Given the description of an element on the screen output the (x, y) to click on. 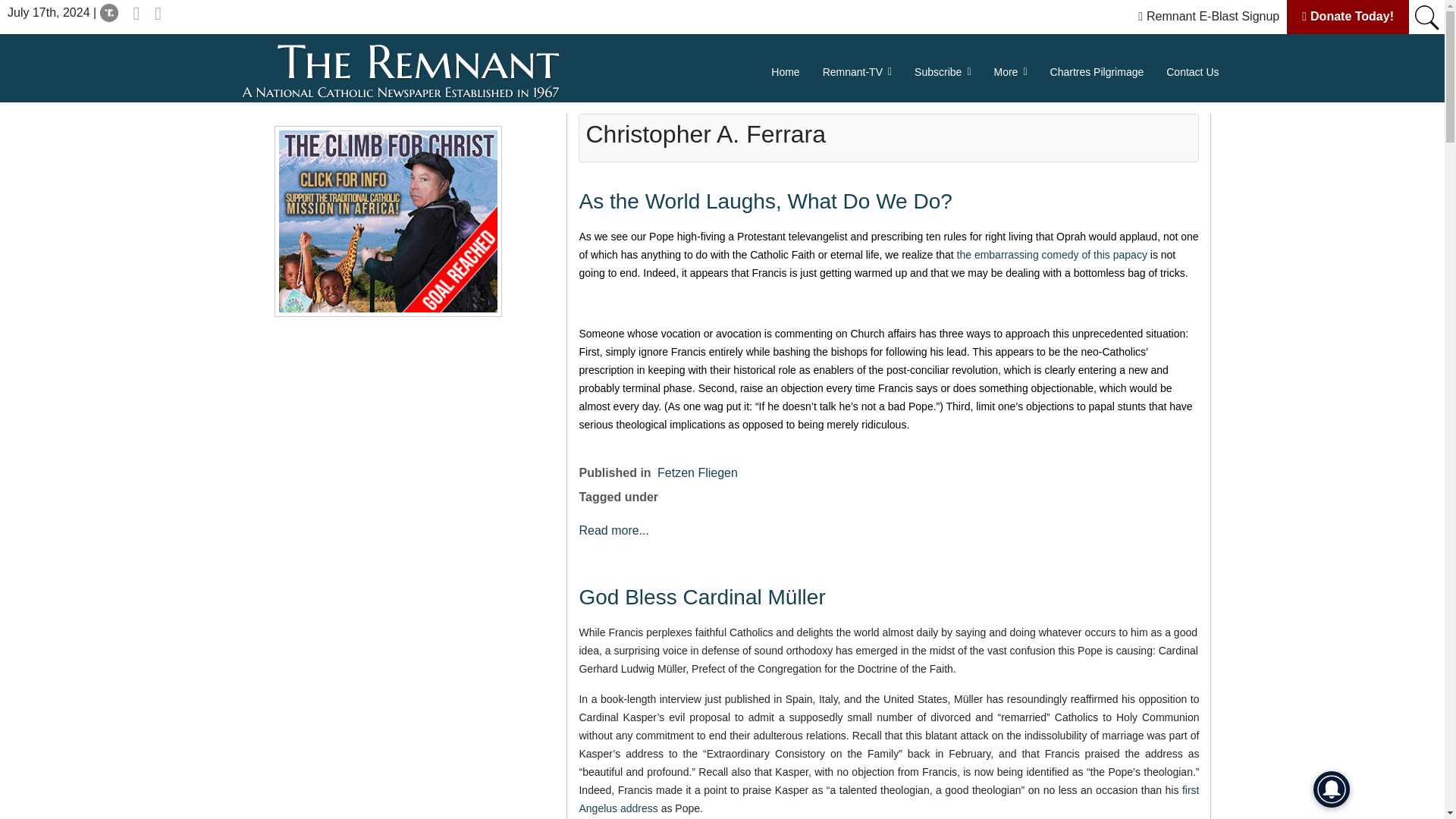
Remnant-TV (856, 72)
Contact Us (1186, 72)
Remnant E-Blast Signup (1200, 15)
Home (785, 72)
More (1010, 72)
Chartres Pilgrimage (1097, 72)
the embarrassing comedy of this papacy (1051, 254)
Subscribe (941, 72)
Read more... (612, 530)
Fetzen Fliegen (698, 472)
As the World Laughs, What Do We Do? (765, 200)
first Angelus address (888, 798)
Donate Today! (1340, 15)
